Given the description of an element on the screen output the (x, y) to click on. 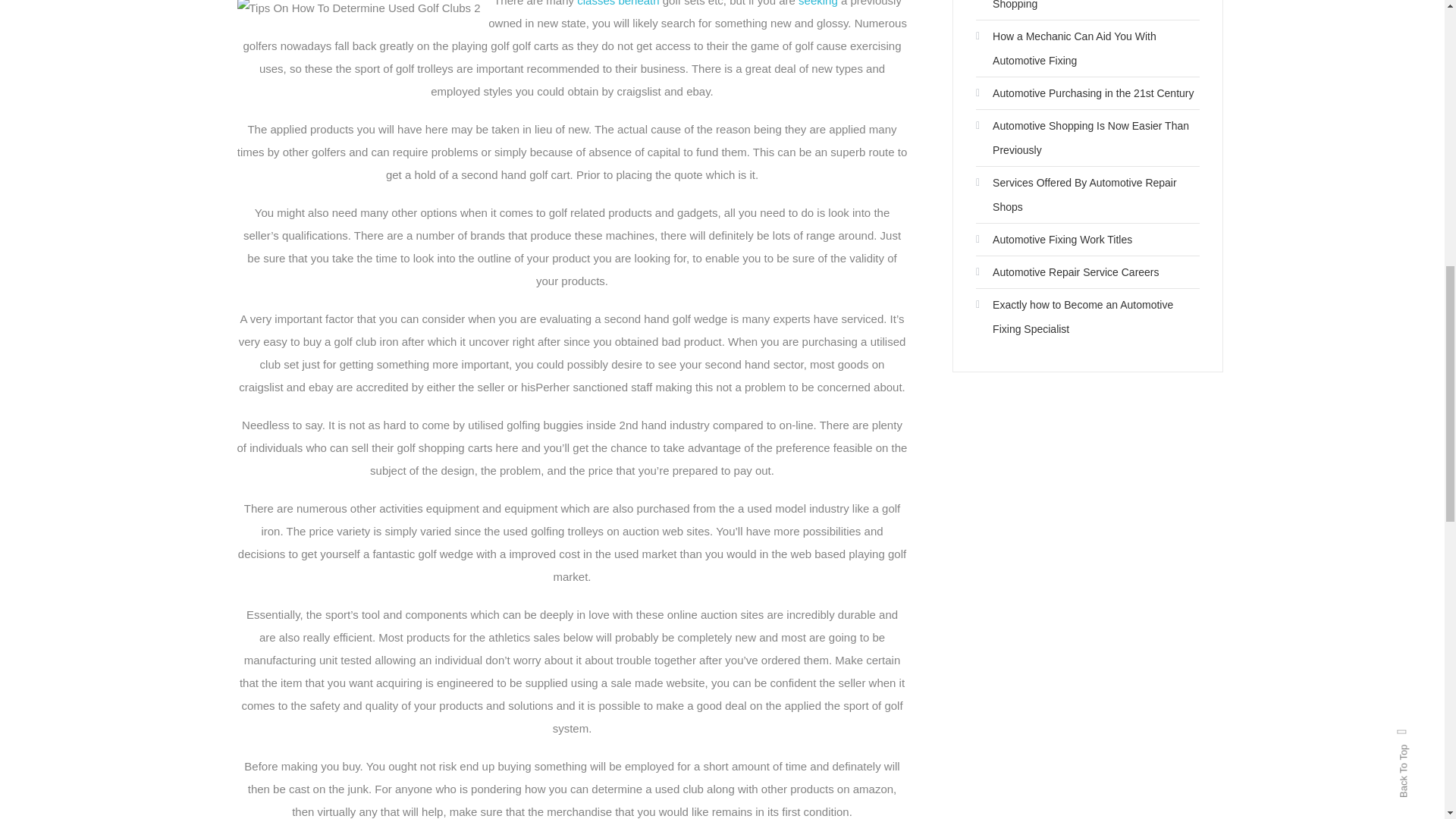
Automotive Repair Service Careers (1066, 272)
seeking (817, 3)
Exactly how to Become an Automotive Fixing Specialist (1086, 316)
SDC Item Data and also Automotive Shopping (1086, 7)
Services Offered By Automotive Repair Shops (1086, 194)
How a Mechanic Can Aid You With Automotive Fixing (1086, 48)
Automotive Shopping Is Now Easier Than Previously (1086, 137)
Automotive Purchasing in the 21st Century (1084, 93)
classes beneath (617, 3)
Automotive Fixing Work Titles (1053, 239)
